Given the description of an element on the screen output the (x, y) to click on. 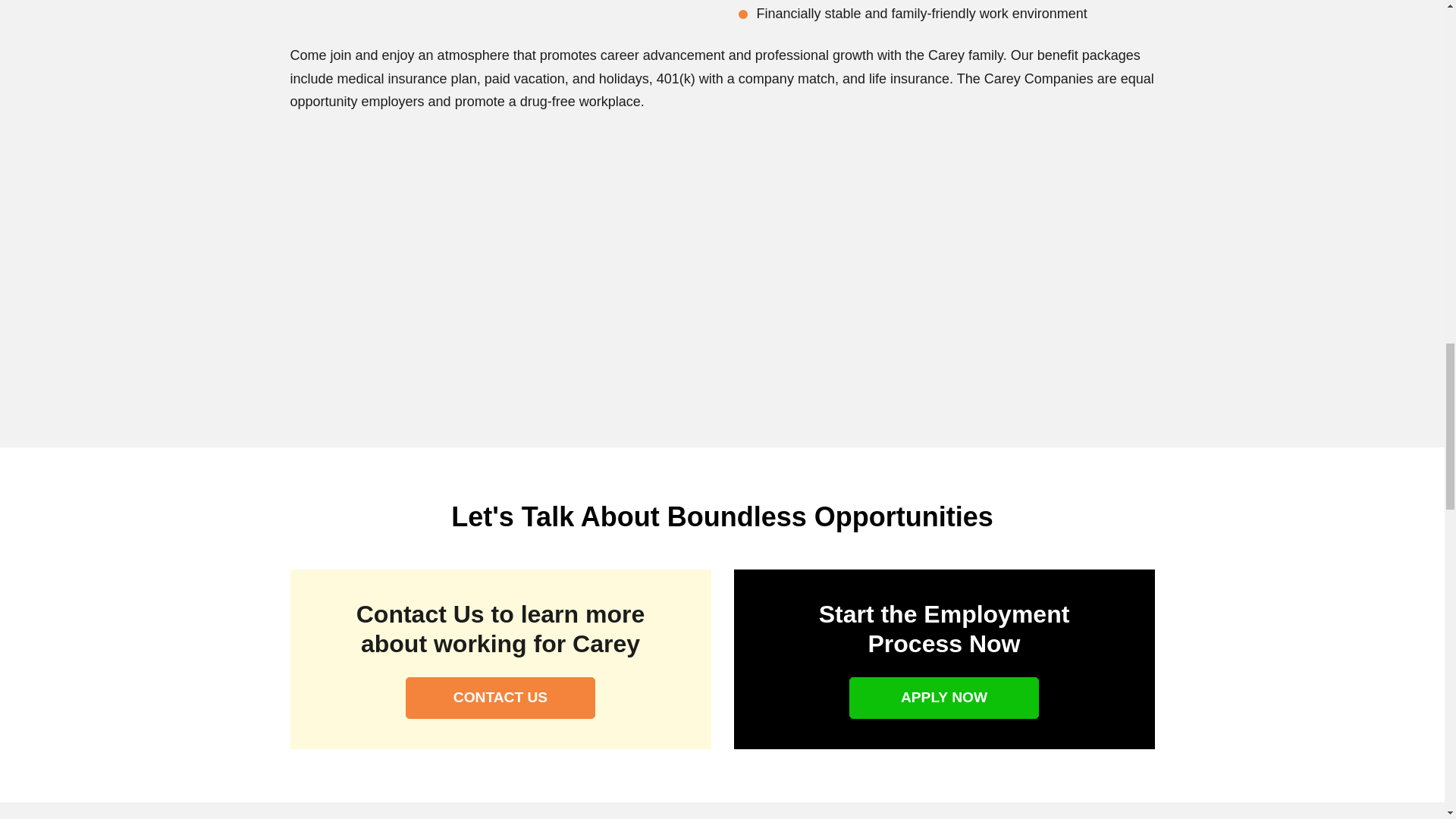
APPLY NOW (943, 698)
CONTACT US (500, 698)
